Given the description of an element on the screen output the (x, y) to click on. 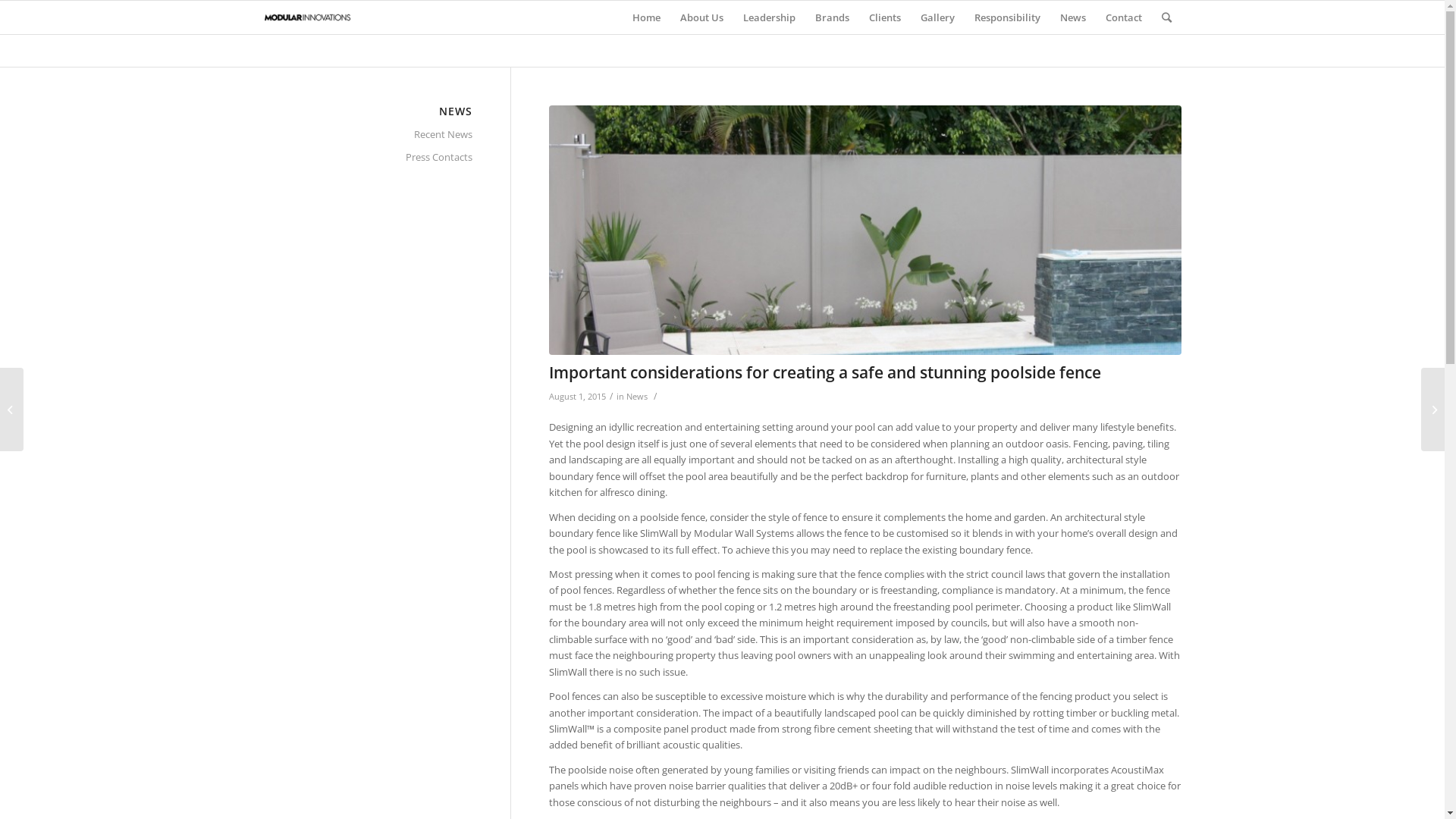
Leadership Element type: text (768, 17)
News Element type: text (1072, 17)
Responsibility Element type: text (1007, 17)
Recent News Element type: text (368, 134)
Brands Element type: text (832, 17)
News Element type: text (636, 396)
Clients Element type: text (884, 17)
About Us Element type: text (701, 17)
Contact Element type: text (1123, 17)
Home Element type: text (645, 17)
Press Contacts Element type: text (368, 157)
Gallery Element type: text (936, 17)
